Given the description of an element on the screen output the (x, y) to click on. 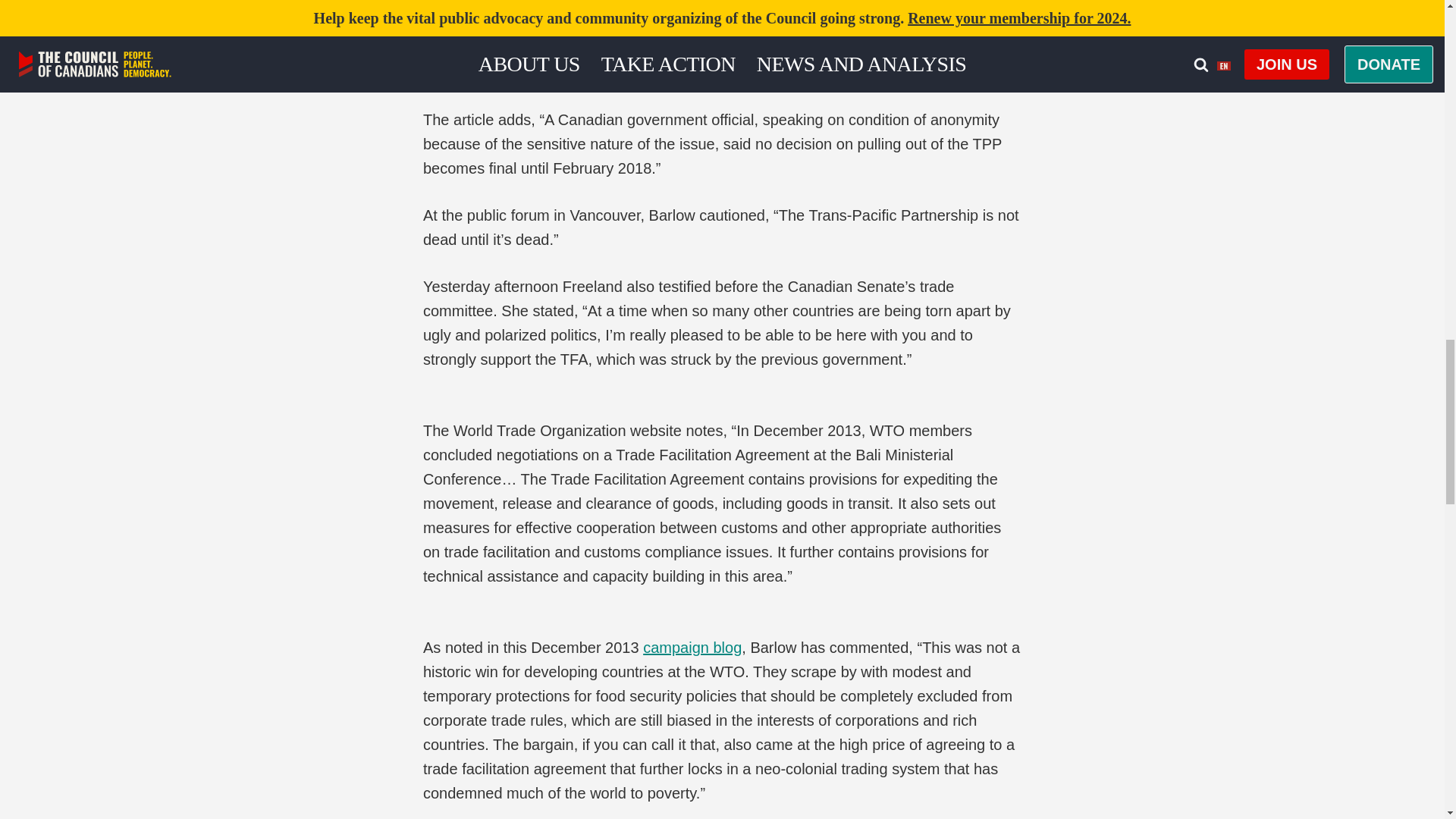
campaign blog (692, 647)
